Given the description of an element on the screen output the (x, y) to click on. 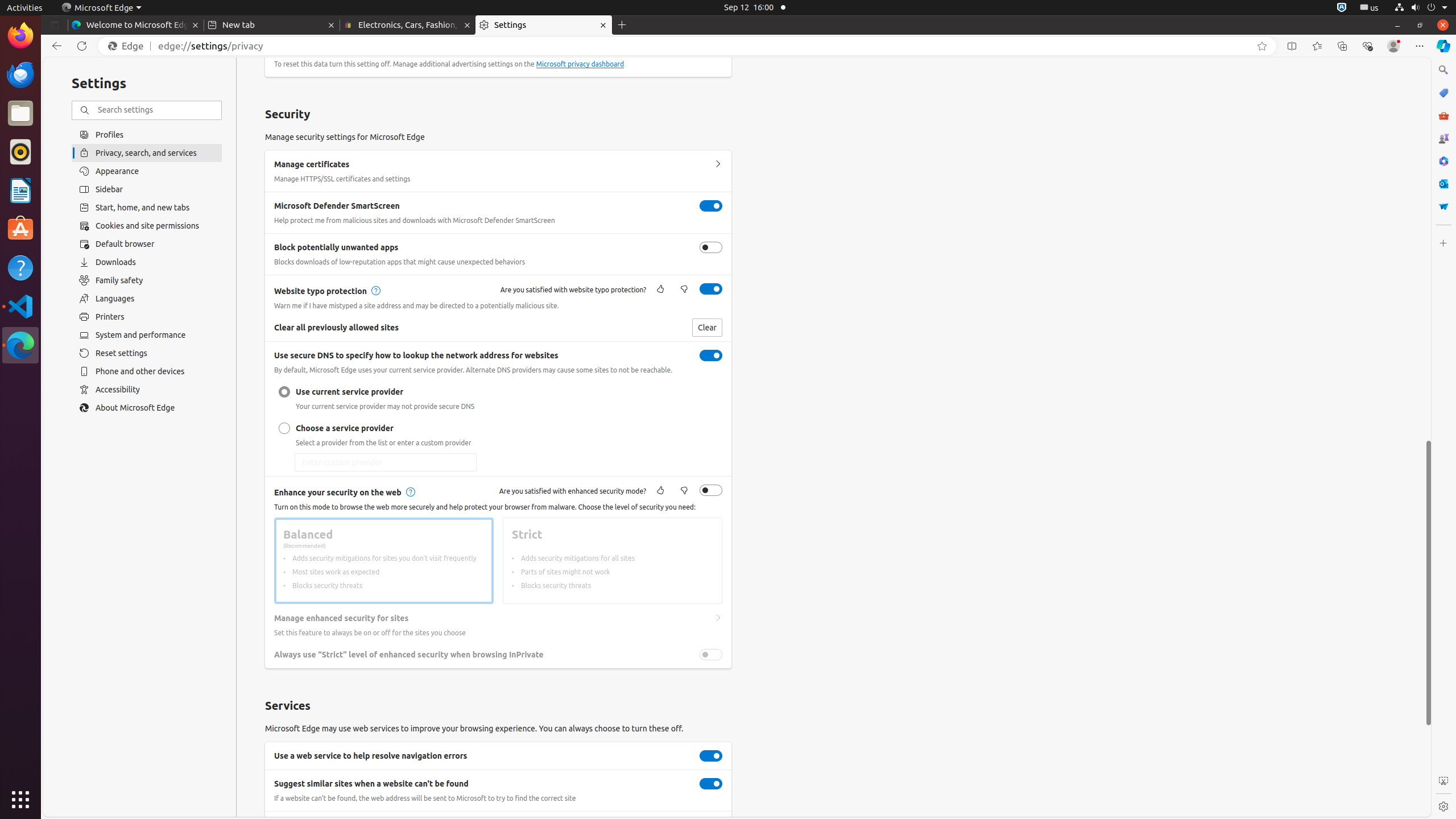
Microsoft Shopping Element type: push-button (1443, 92)
Phone and other devices Element type: tree-item (146, 371)
Use a web service to help resolve navigation errors Element type: check-box (710, 755)
Start, home, and new tabs Element type: tree-item (146, 207)
Back Element type: push-button (54, 45)
